Given the description of an element on the screen output the (x, y) to click on. 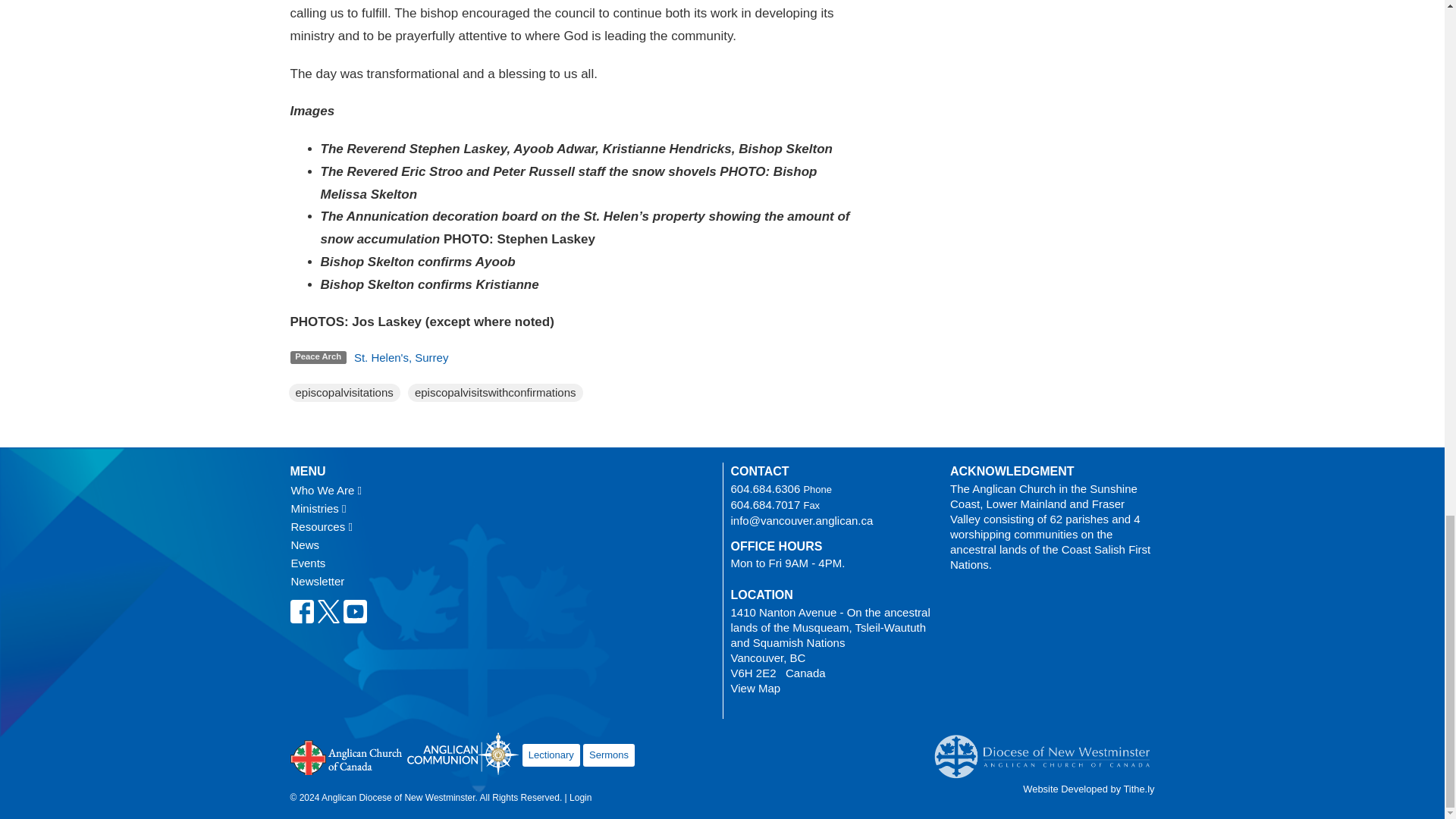
St. Helen's, Surrey (400, 357)
episcopalvisitswithconfirmations (495, 392)
Facebook Icon (301, 611)
Twitter Icon (328, 611)
episcopalvisitations (344, 392)
Youtube Icon (354, 611)
